Given the description of an element on the screen output the (x, y) to click on. 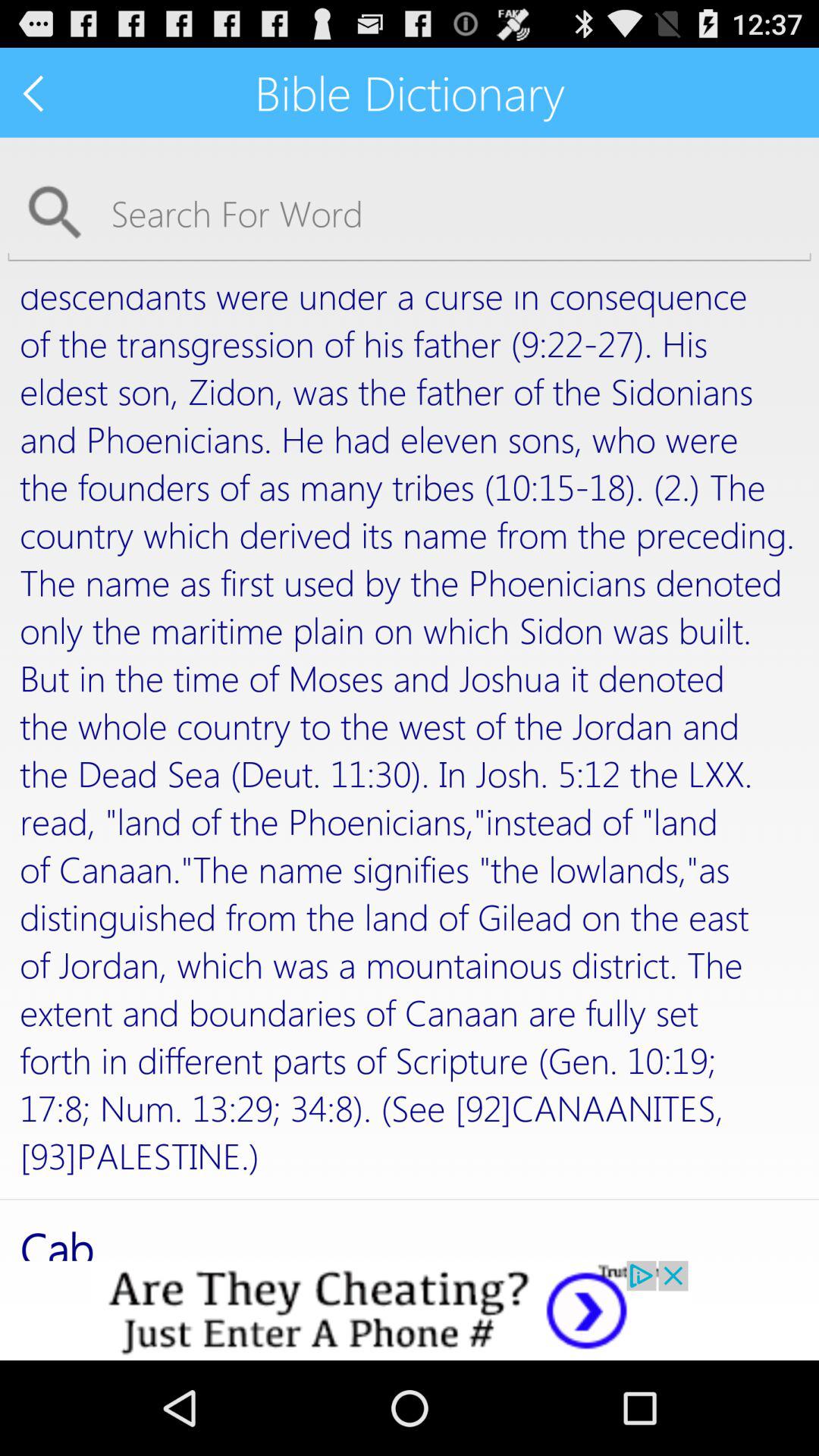
share the article (409, 1310)
